Given the description of an element on the screen output the (x, y) to click on. 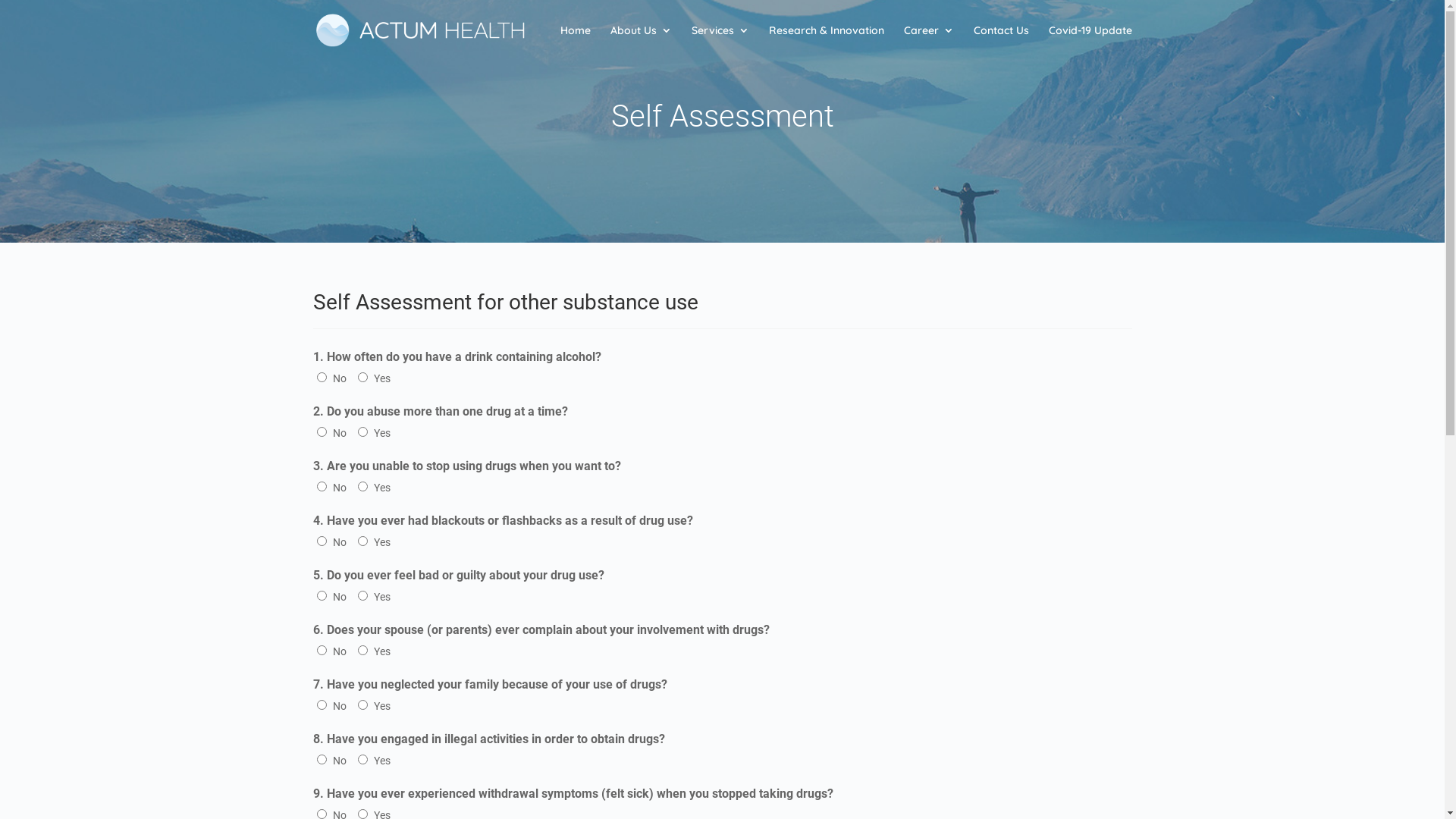
Research & Innovation Element type: text (826, 42)
Services Element type: text (720, 42)
Contact Us Element type: text (1001, 42)
About Us Element type: text (640, 42)
Covid-19 Update Element type: text (1089, 42)
Career Element type: text (928, 42)
Home Element type: text (574, 42)
